Given the description of an element on the screen output the (x, y) to click on. 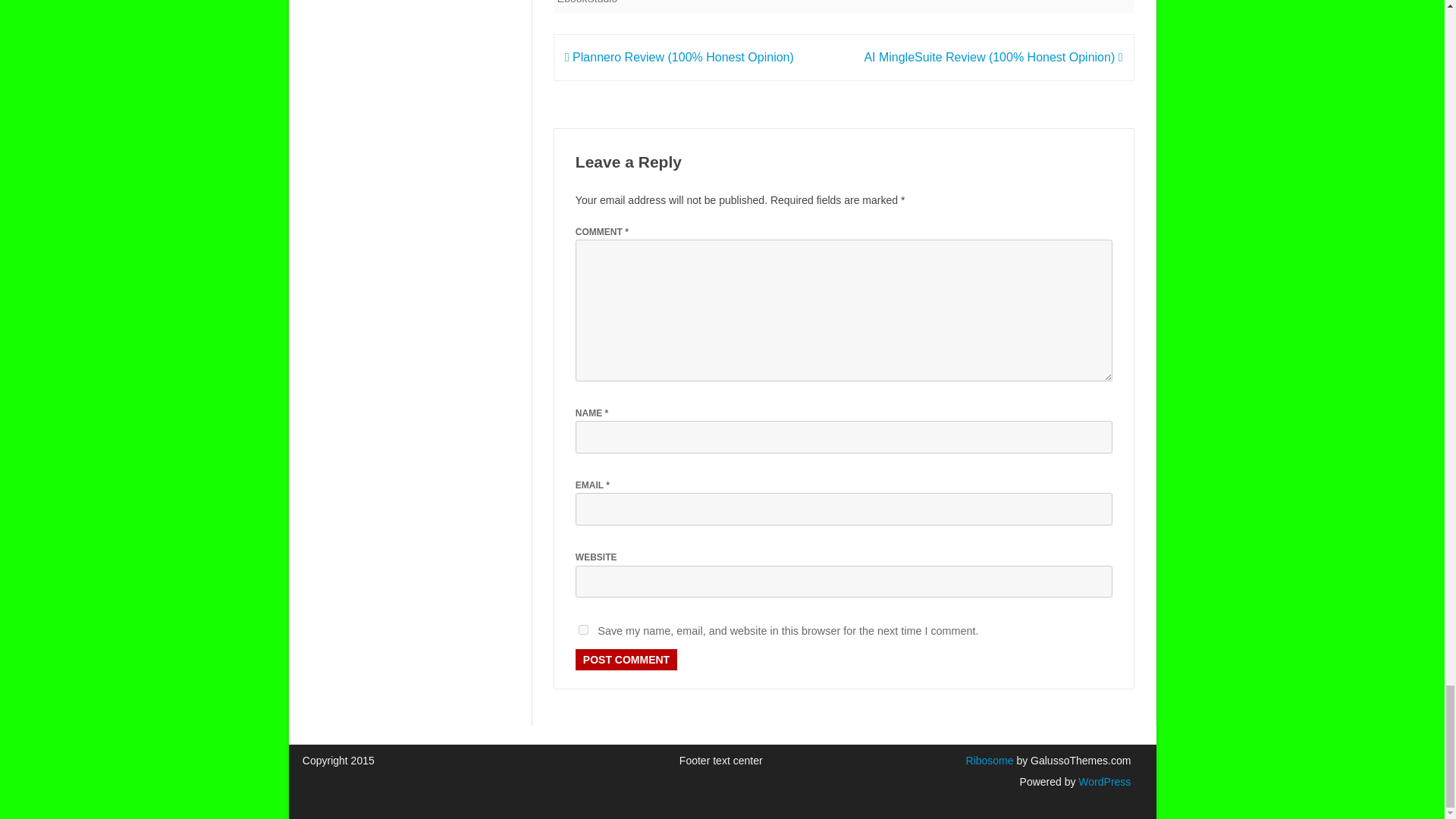
Post Comment (626, 659)
yes (583, 629)
